Given the description of an element on the screen output the (x, y) to click on. 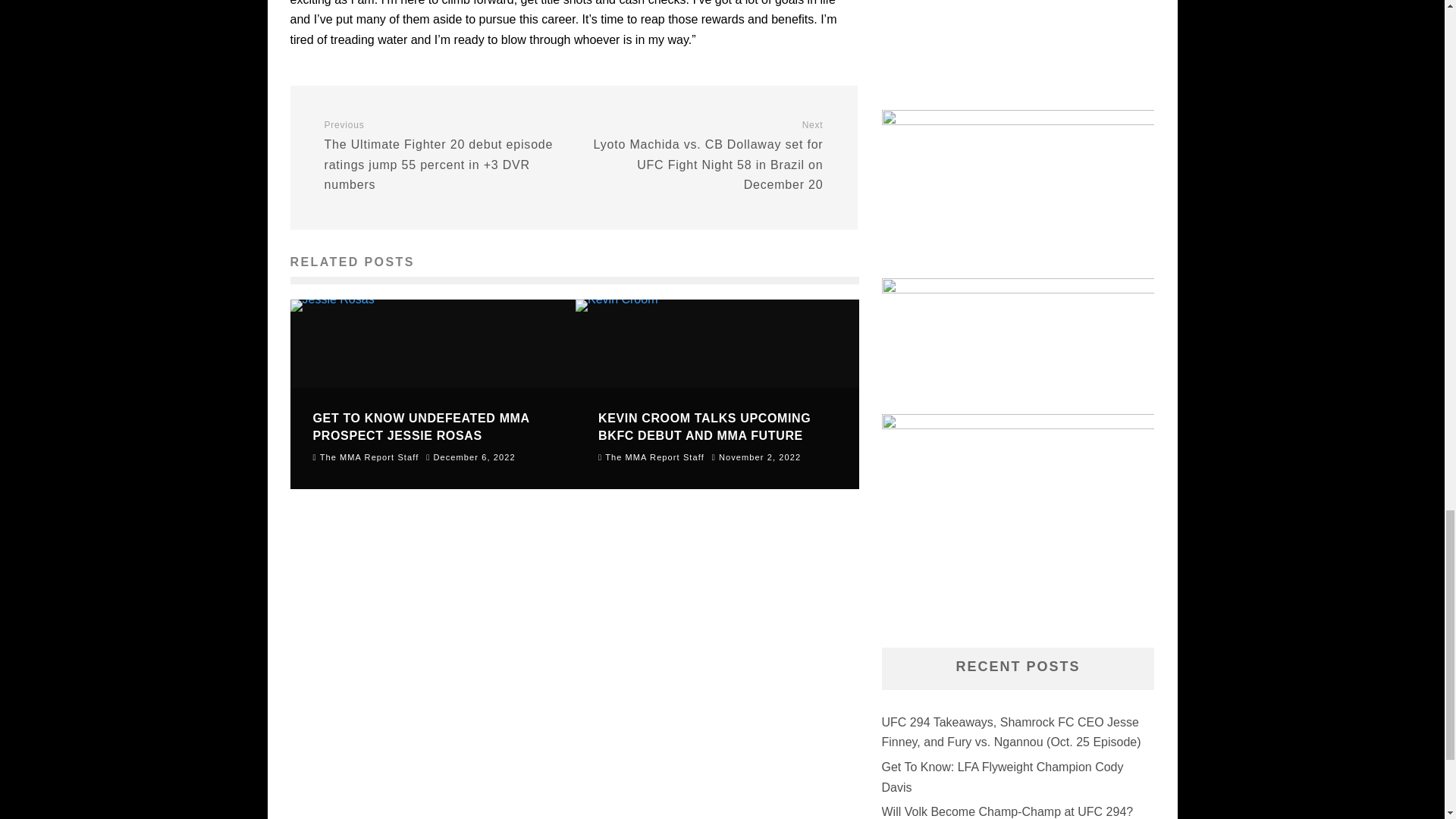
GET TO KNOW UNDEFEATED MMA PROSPECT JESSIE ROSAS (421, 426)
The MMA Report Staff (366, 456)
KEVIN CROOM TALKS UPCOMING BKFC DEBUT AND MMA FUTURE (704, 426)
The MMA Report Staff (651, 456)
